Given the description of an element on the screen output the (x, y) to click on. 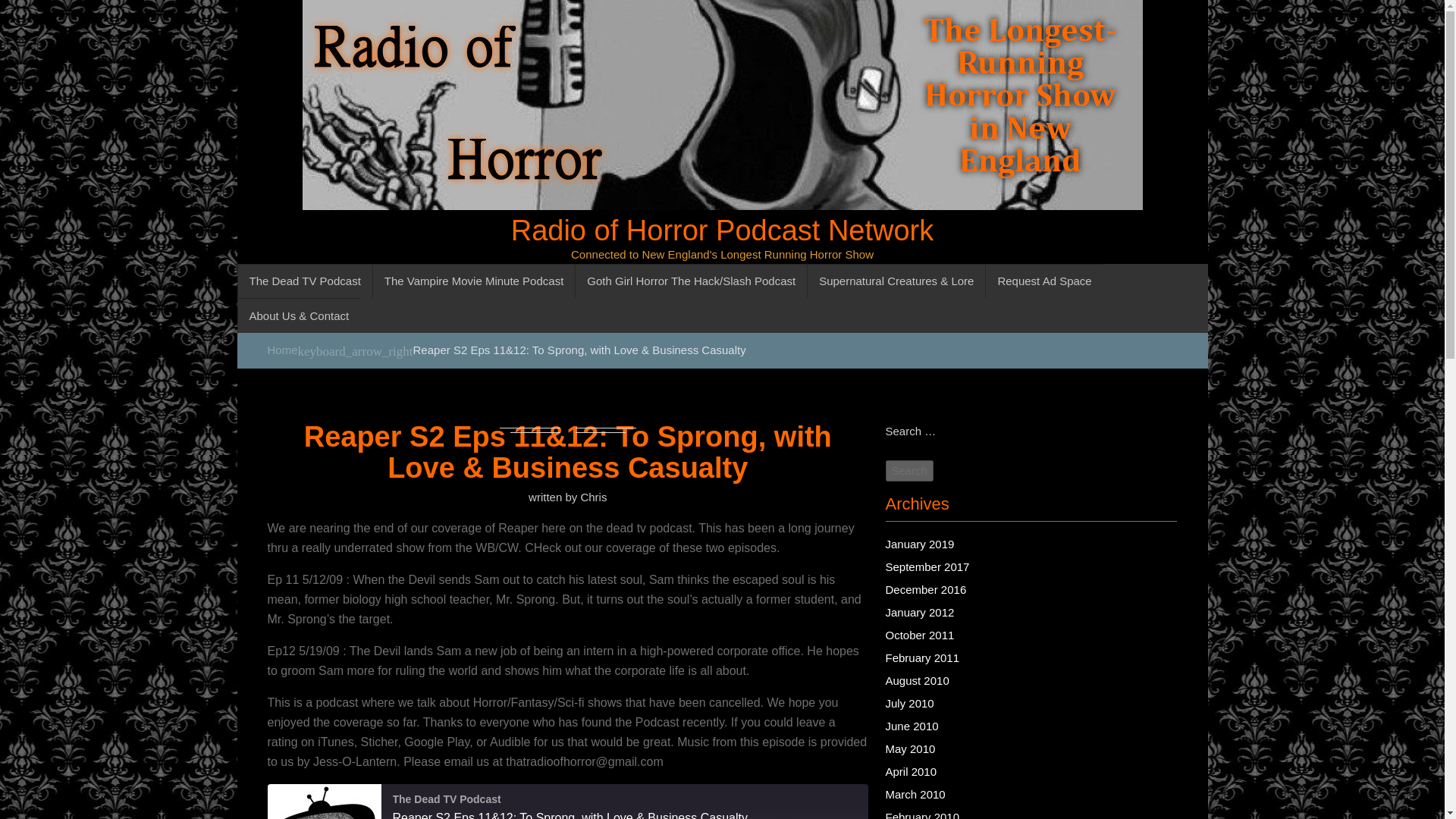
Chris (593, 496)
Request Ad Space (1043, 280)
The Dead TV Podcast (303, 280)
The Dead TV Podcast (323, 801)
Radio of Horror Podcast Network (722, 229)
Posts by Chris (593, 496)
Home (281, 349)
Search (909, 471)
Search (909, 471)
The Vampire Movie Minute Podcast (473, 280)
